Given the description of an element on the screen output the (x, y) to click on. 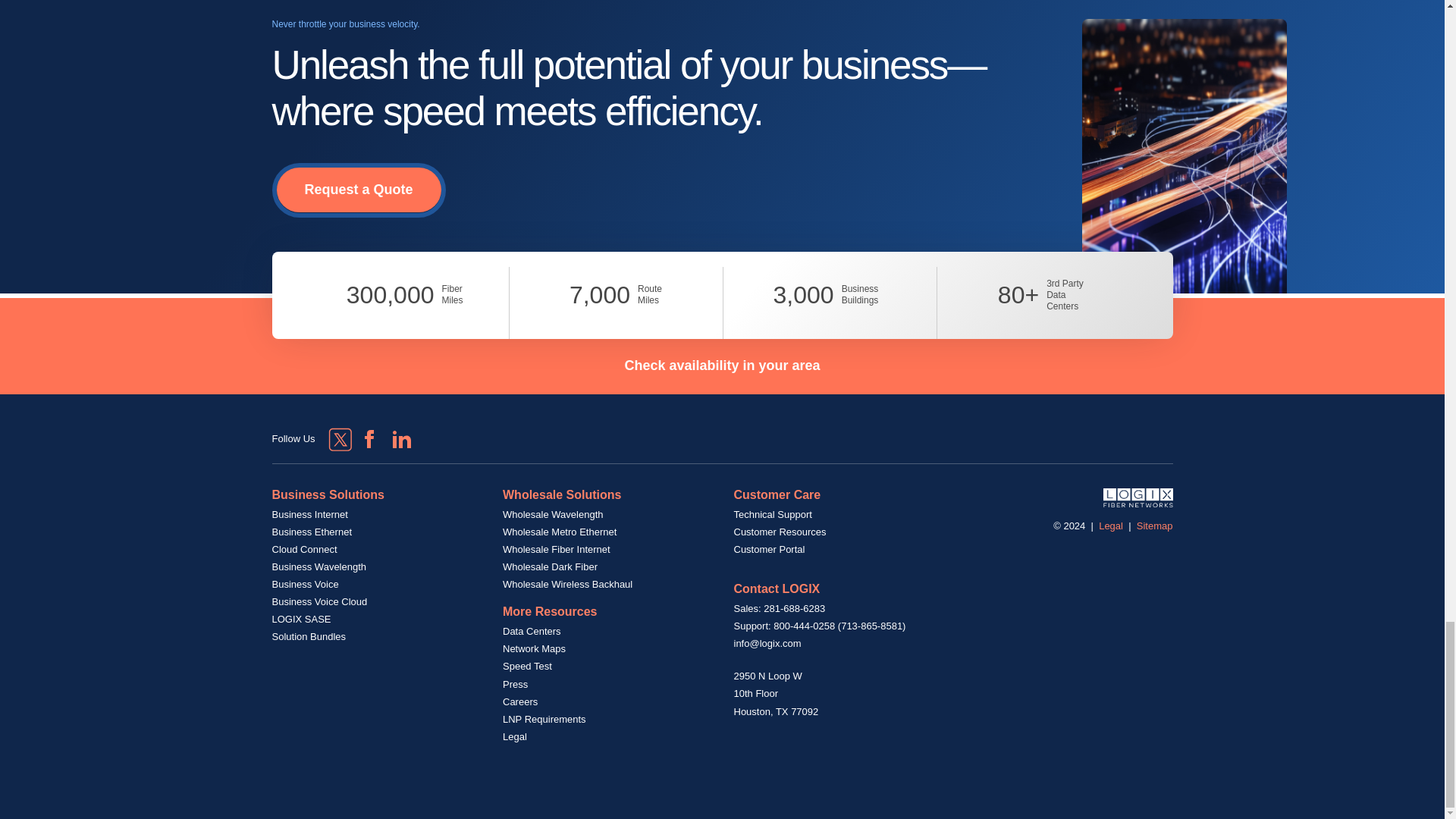
Request a Quote (357, 189)
